Given the description of an element on the screen output the (x, y) to click on. 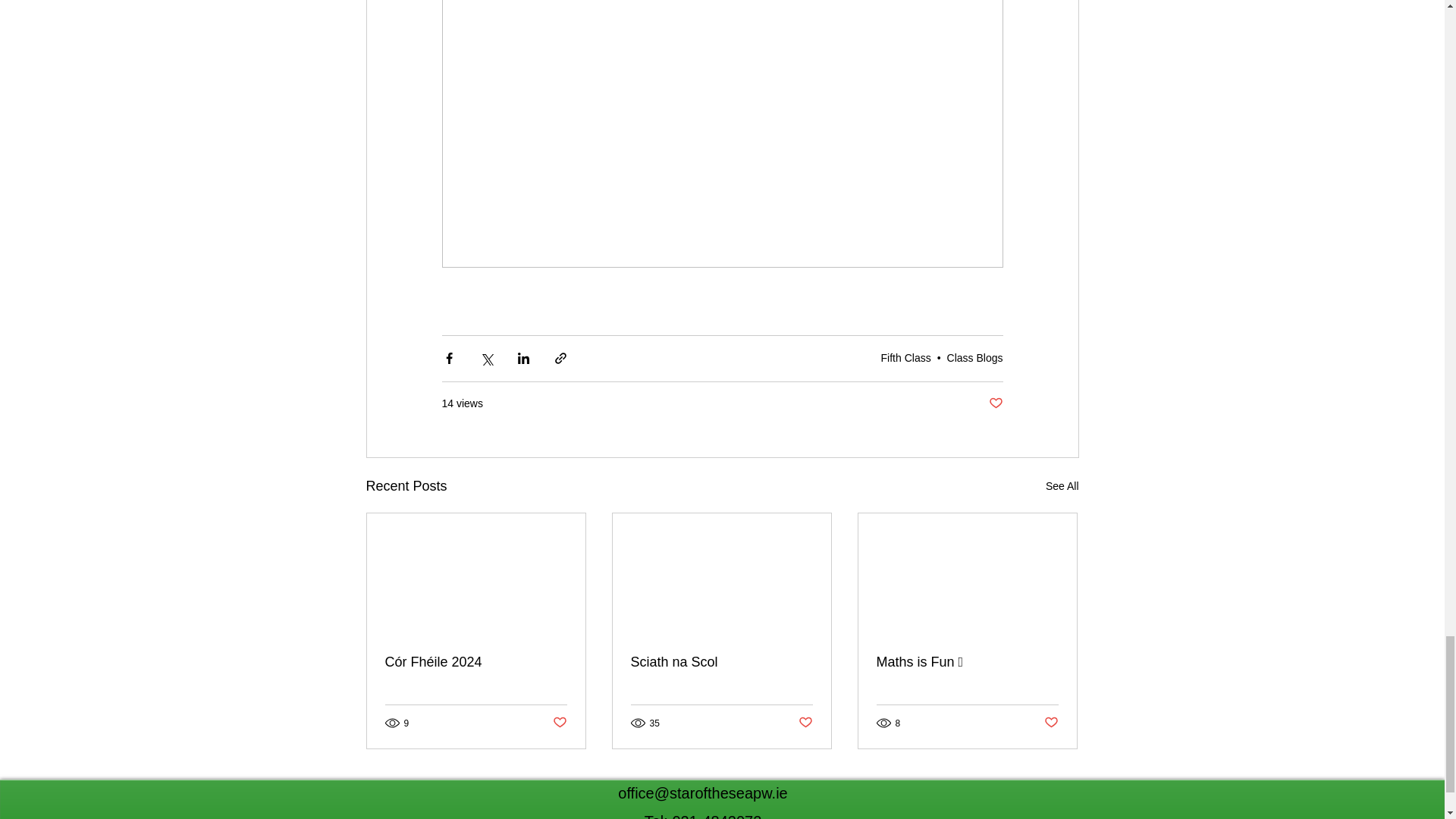
See All (1061, 486)
Post not marked as liked (995, 403)
Fifth Class (905, 357)
Class Blogs (975, 357)
